Given the description of an element on the screen output the (x, y) to click on. 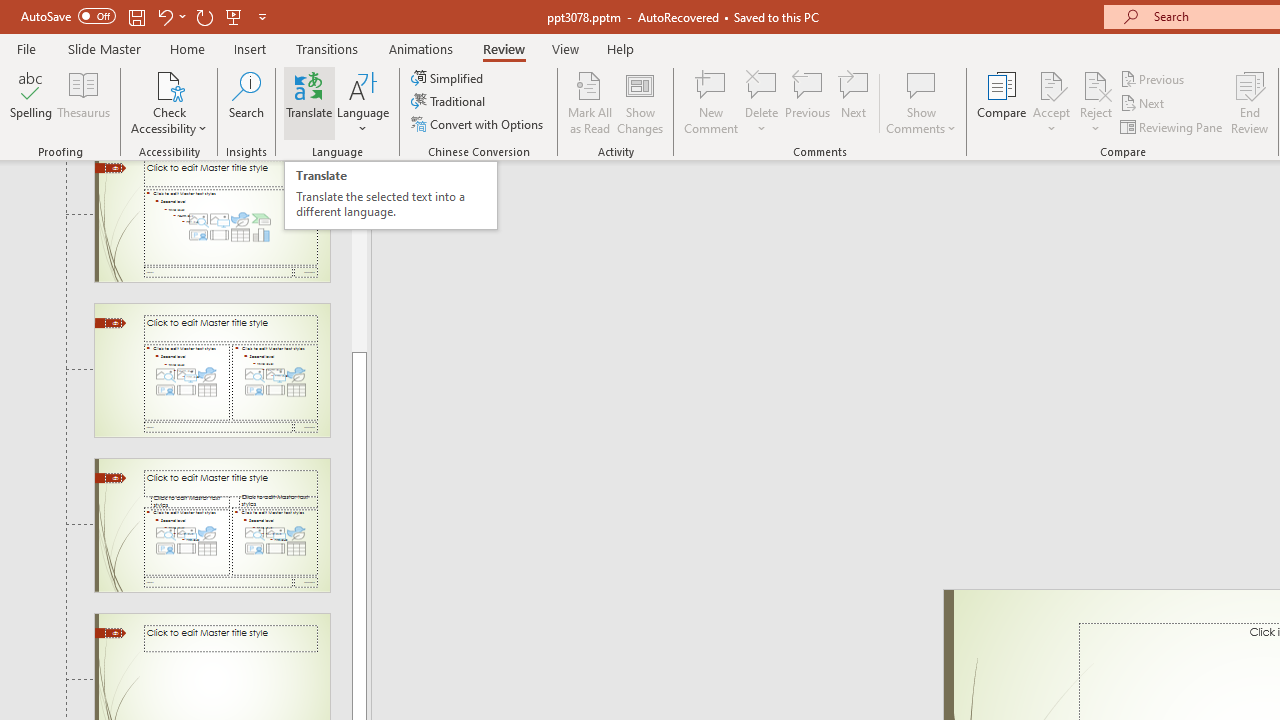
End Review (1249, 102)
Translate (309, 102)
Compare (1002, 102)
Thesaurus... (83, 102)
Mark All as Read (589, 102)
Spelling... (31, 102)
Show Changes (639, 102)
Language (363, 102)
Slide Comparison Layout: used by no slides (212, 525)
Check Accessibility (169, 102)
